Given the description of an element on the screen output the (x, y) to click on. 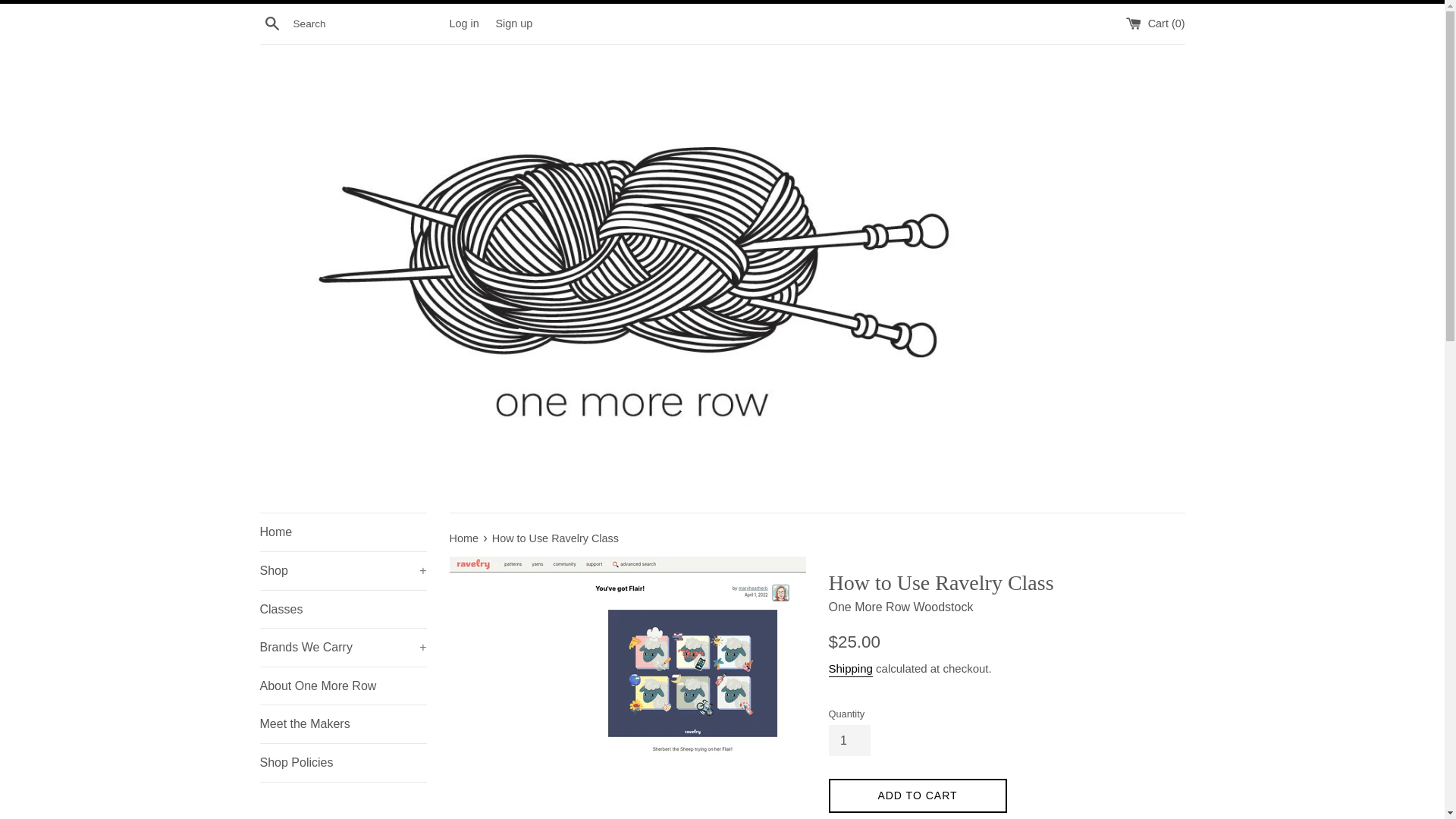
Classes (342, 609)
Search (271, 22)
1 (848, 740)
Sign up (513, 22)
Log in (463, 22)
Back to the frontpage (464, 538)
Home (342, 532)
